Given the description of an element on the screen output the (x, y) to click on. 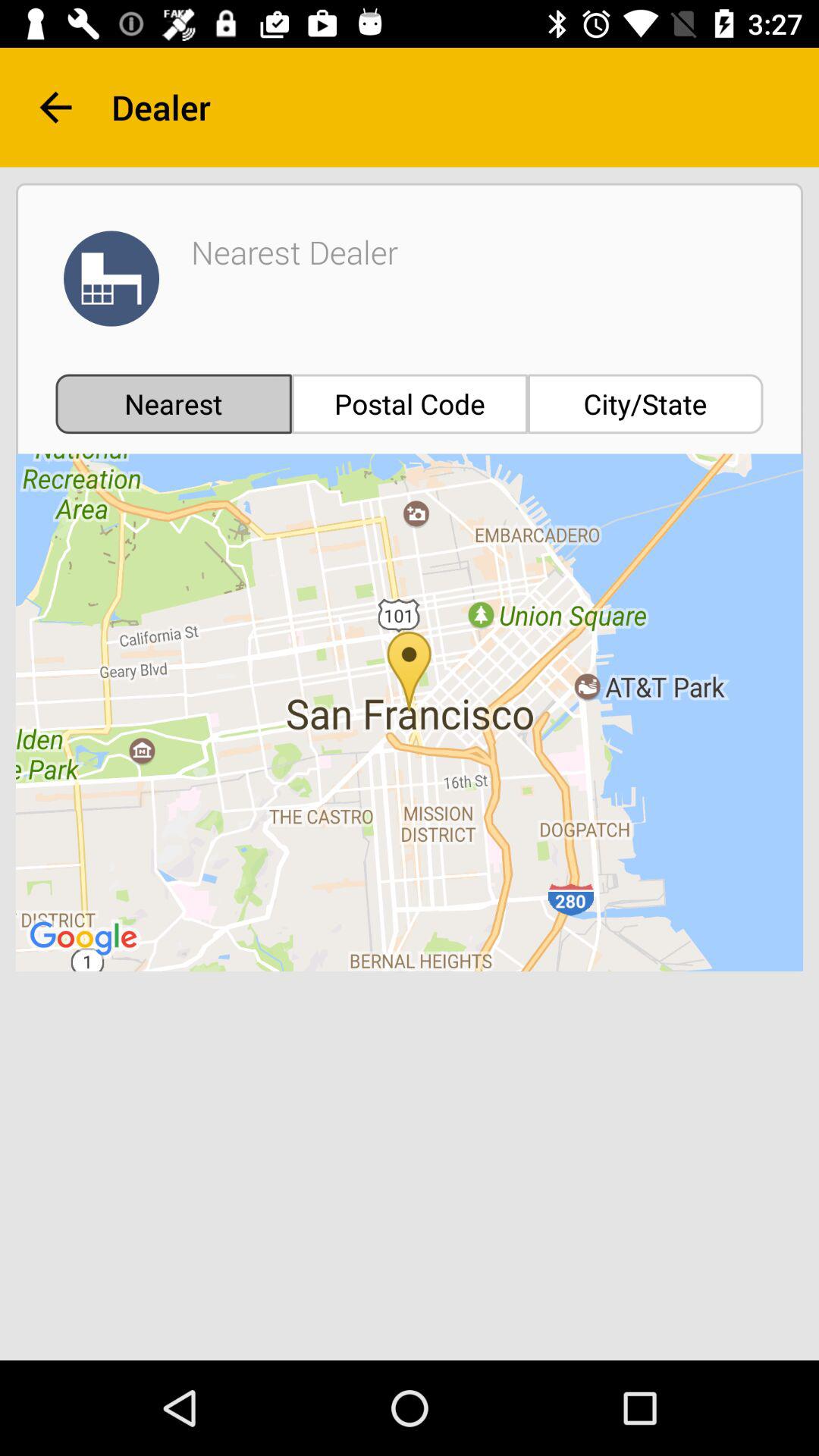
select icon at the top right corner (645, 403)
